Given the description of an element on the screen output the (x, y) to click on. 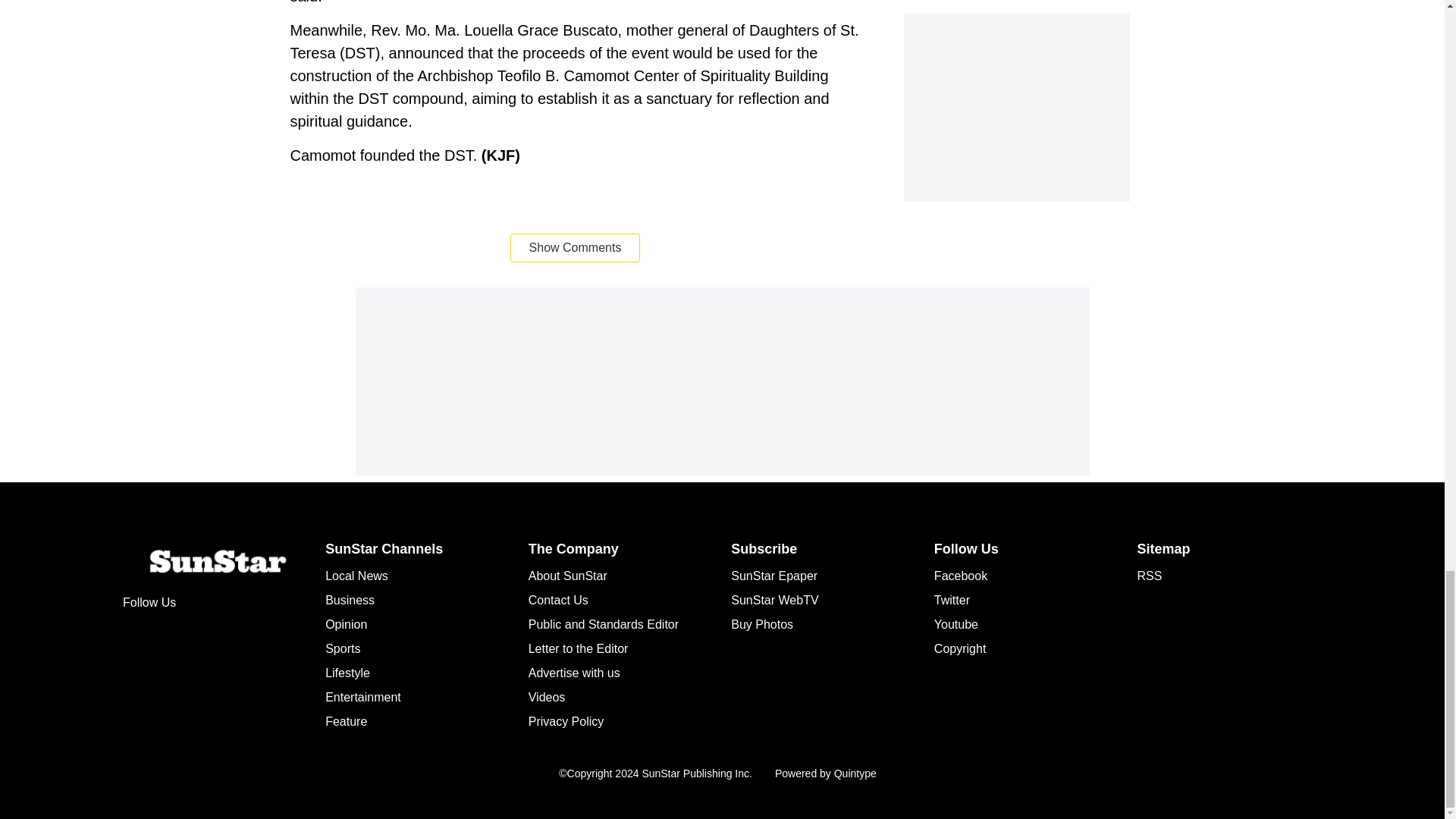
Business (349, 599)
Local News (356, 575)
Opinion (345, 624)
Sports (341, 648)
Lifestyle (346, 672)
Show Comments (575, 247)
